Given the description of an element on the screen output the (x, y) to click on. 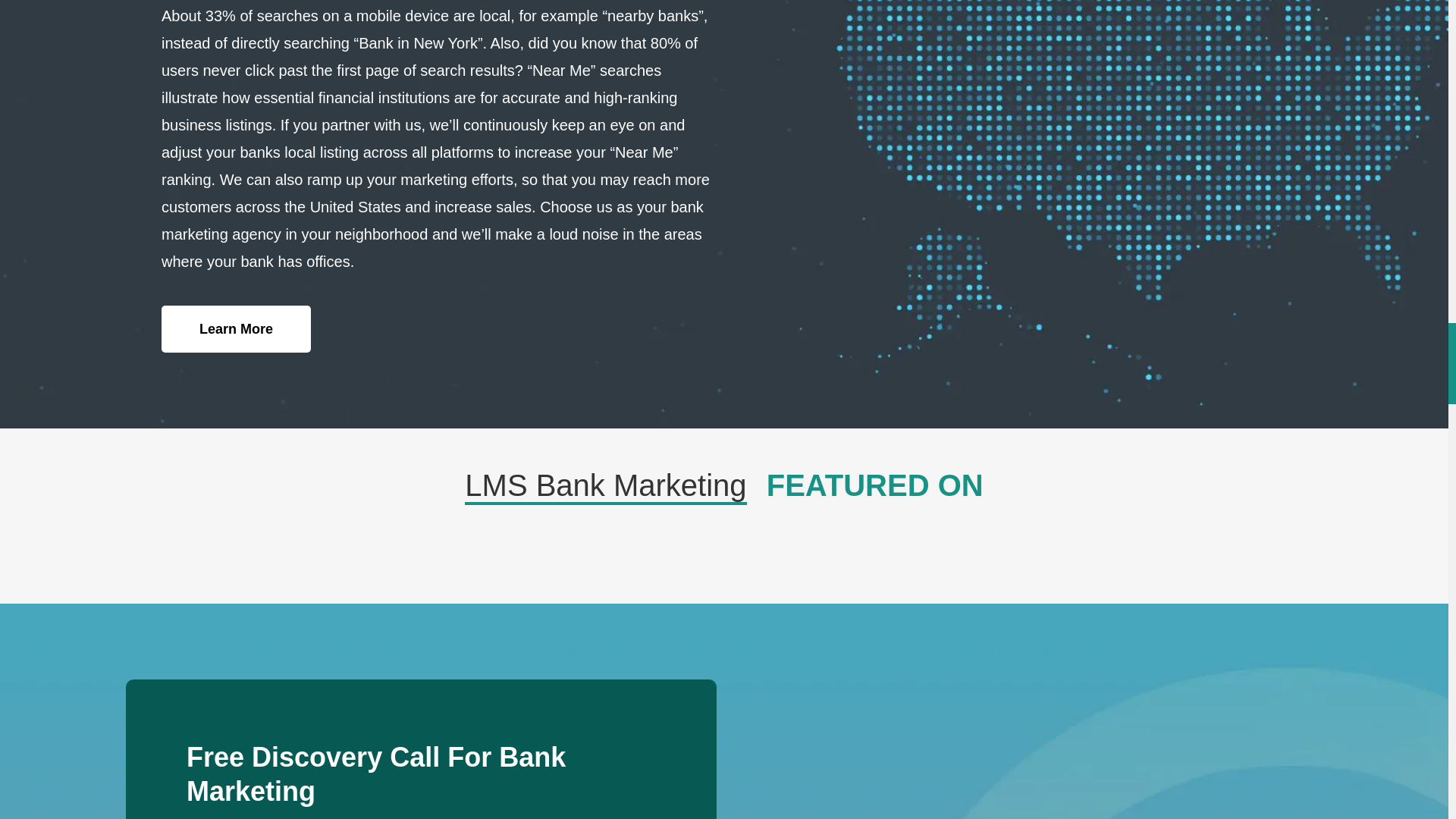
Learn More (236, 328)
